Given the description of an element on the screen output the (x, y) to click on. 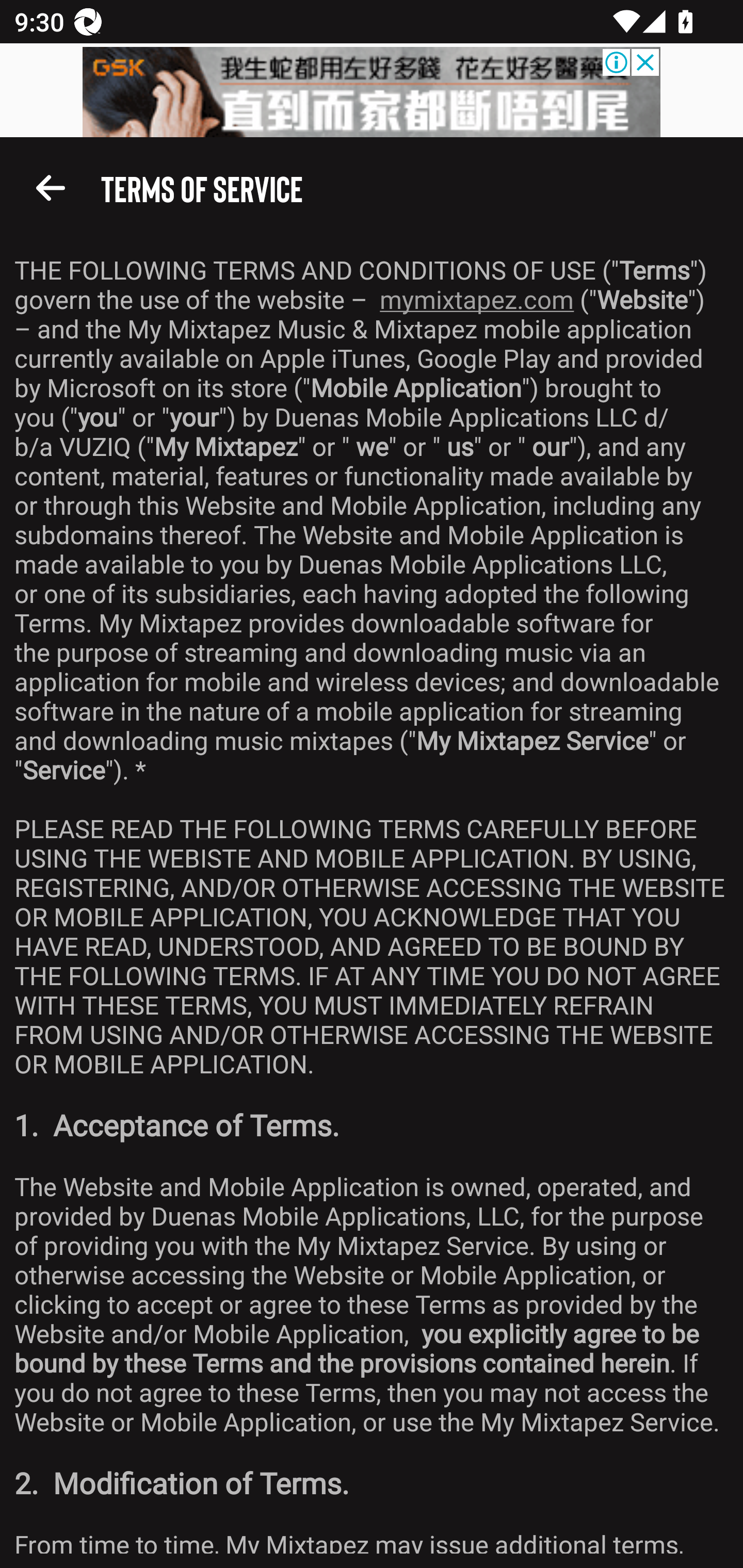
Advertisement (371, 92)
